Given the description of an element on the screen output the (x, y) to click on. 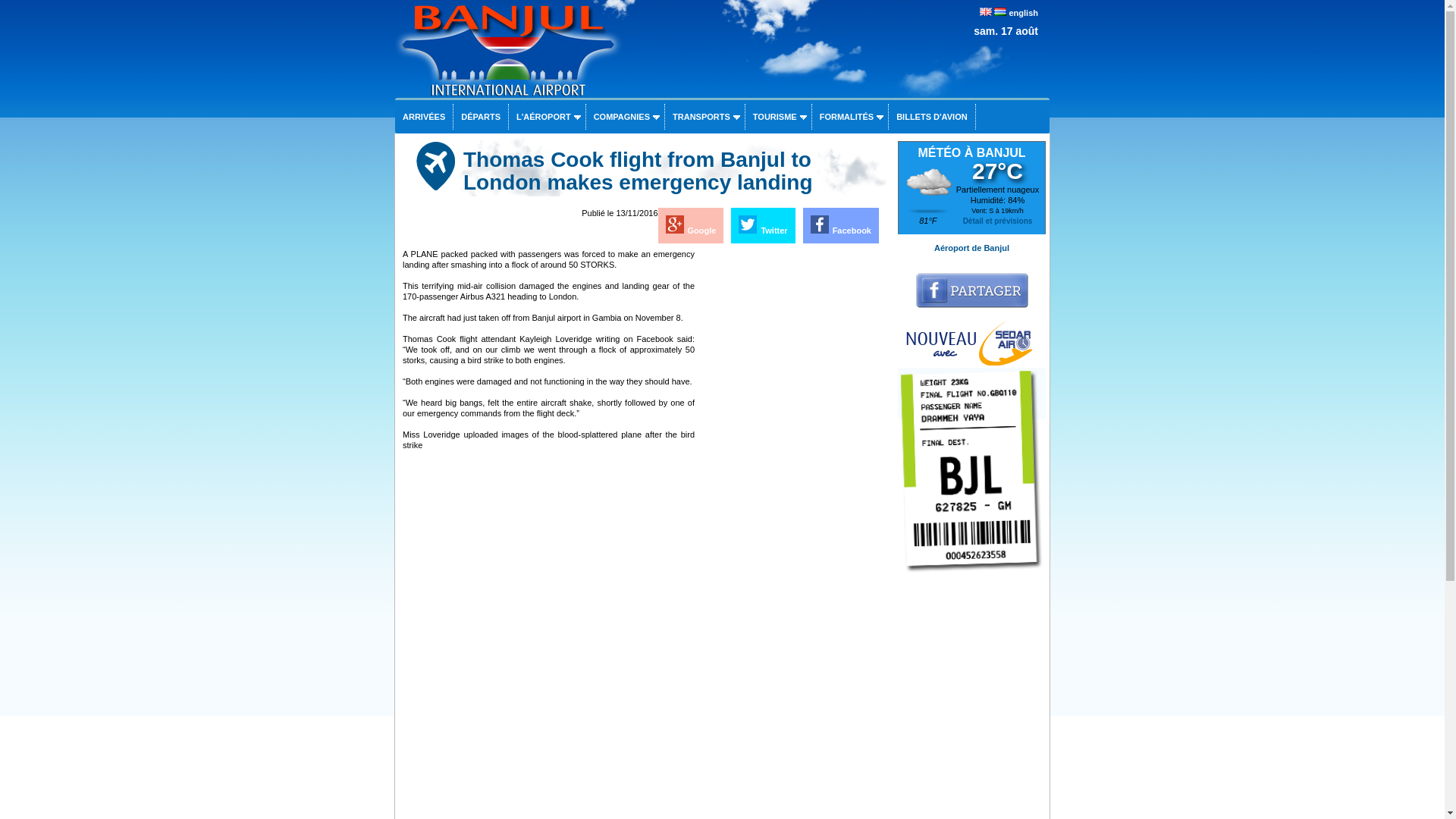
TOURISME (777, 116)
english (1023, 12)
Banjul Airport in English (1023, 12)
COMPAGNIES (624, 116)
TRANSPORTS (704, 116)
